Given the description of an element on the screen output the (x, y) to click on. 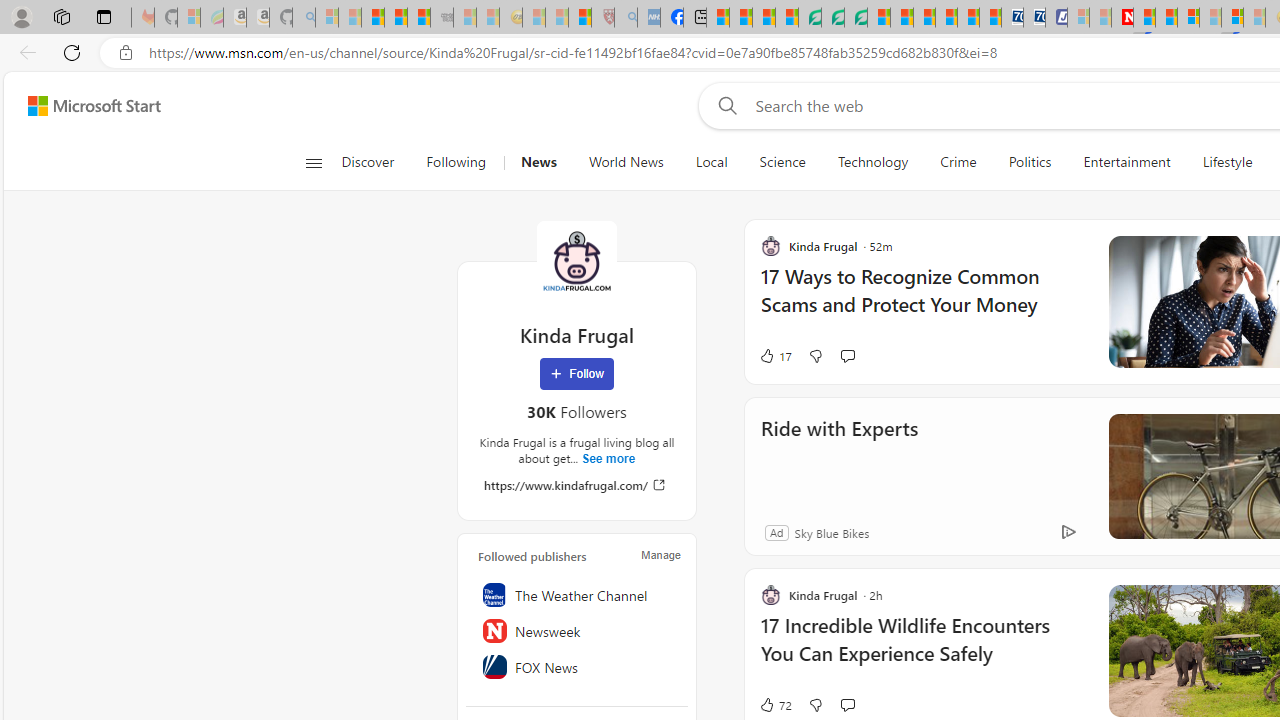
Trusted Community Engagement and Contributions | Guidelines (1144, 17)
Crime (958, 162)
Lifestyle (1227, 162)
